Given the description of an element on the screen output the (x, y) to click on. 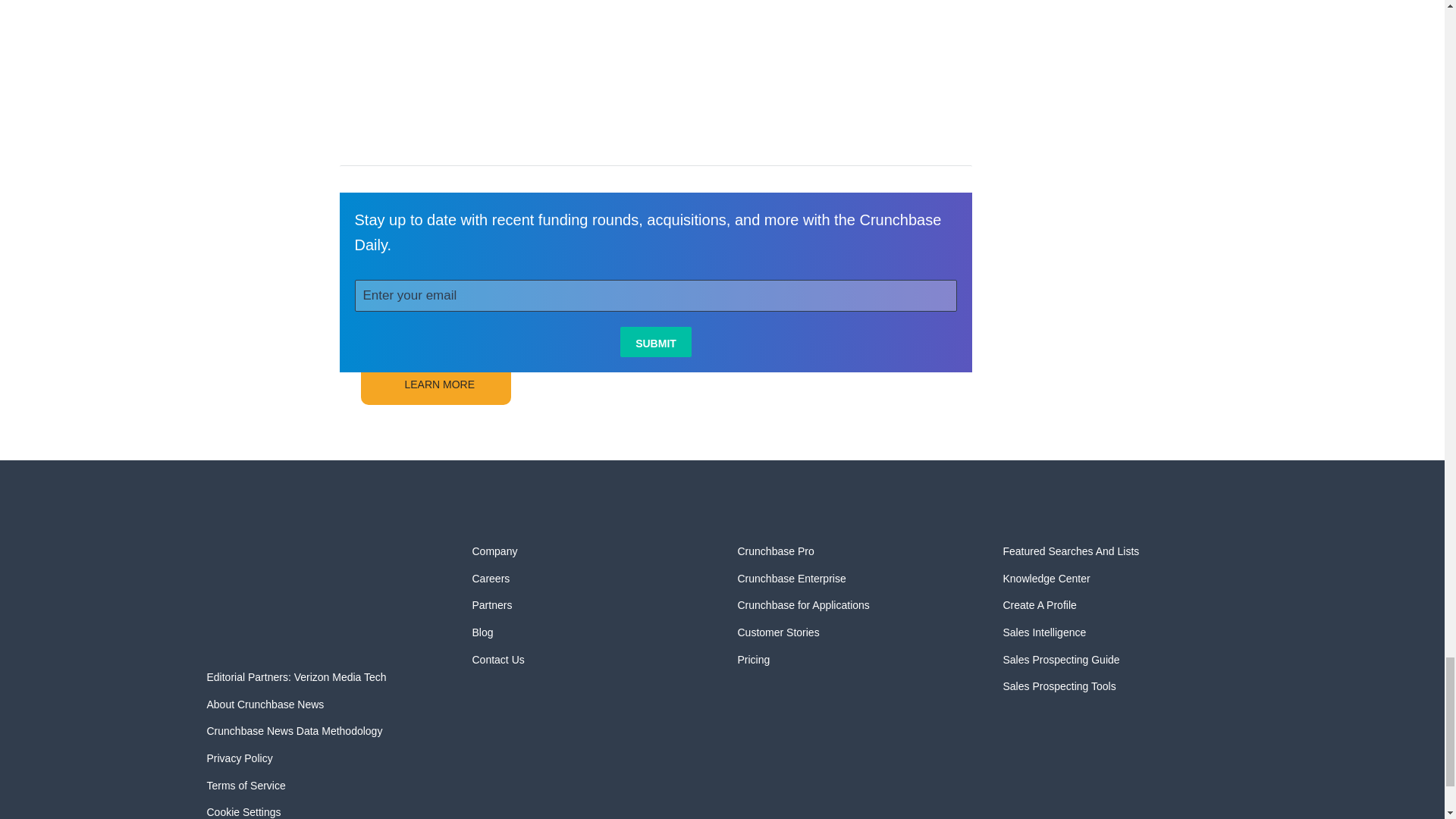
Submit (655, 341)
Enter your email (656, 296)
